Given the description of an element on the screen output the (x, y) to click on. 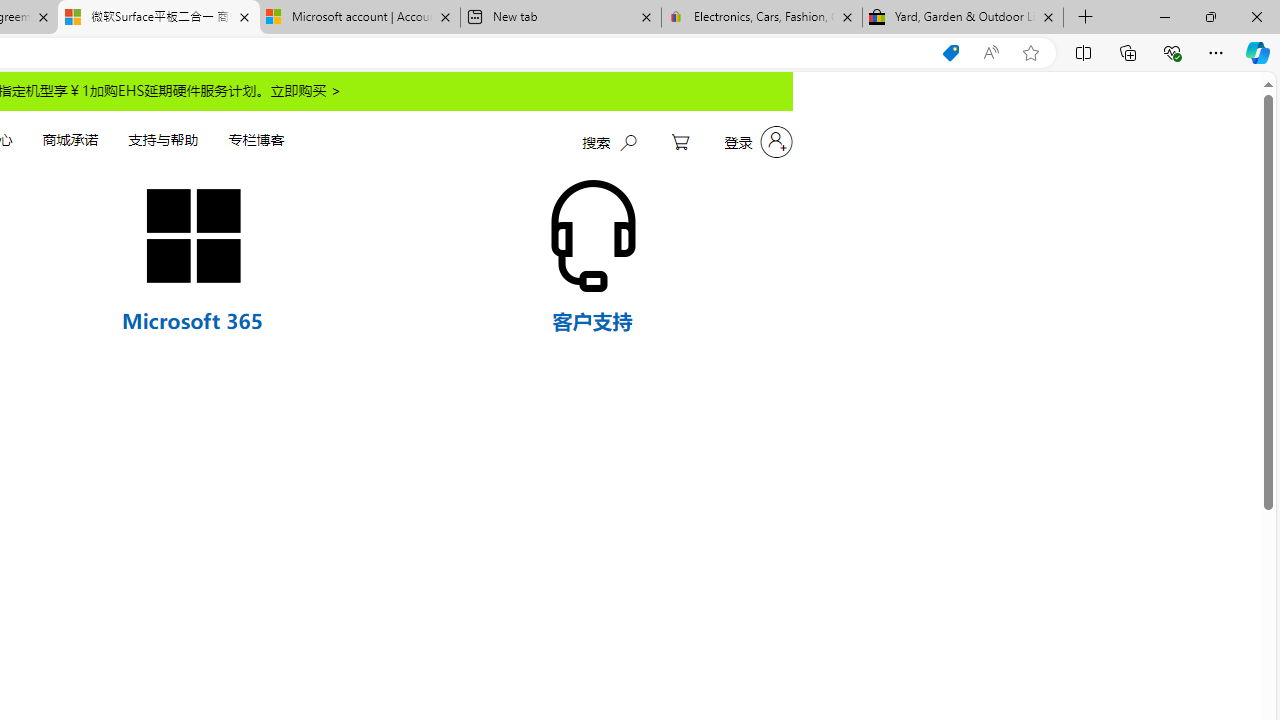
Microsoft account | Account Checkup (359, 17)
Split screen (1083, 52)
Browser essentials (1171, 52)
Read aloud this page (Ctrl+Shift+U) (991, 53)
Restore (1210, 16)
My Cart (679, 142)
New tab (560, 17)
